Given the description of an element on the screen output the (x, y) to click on. 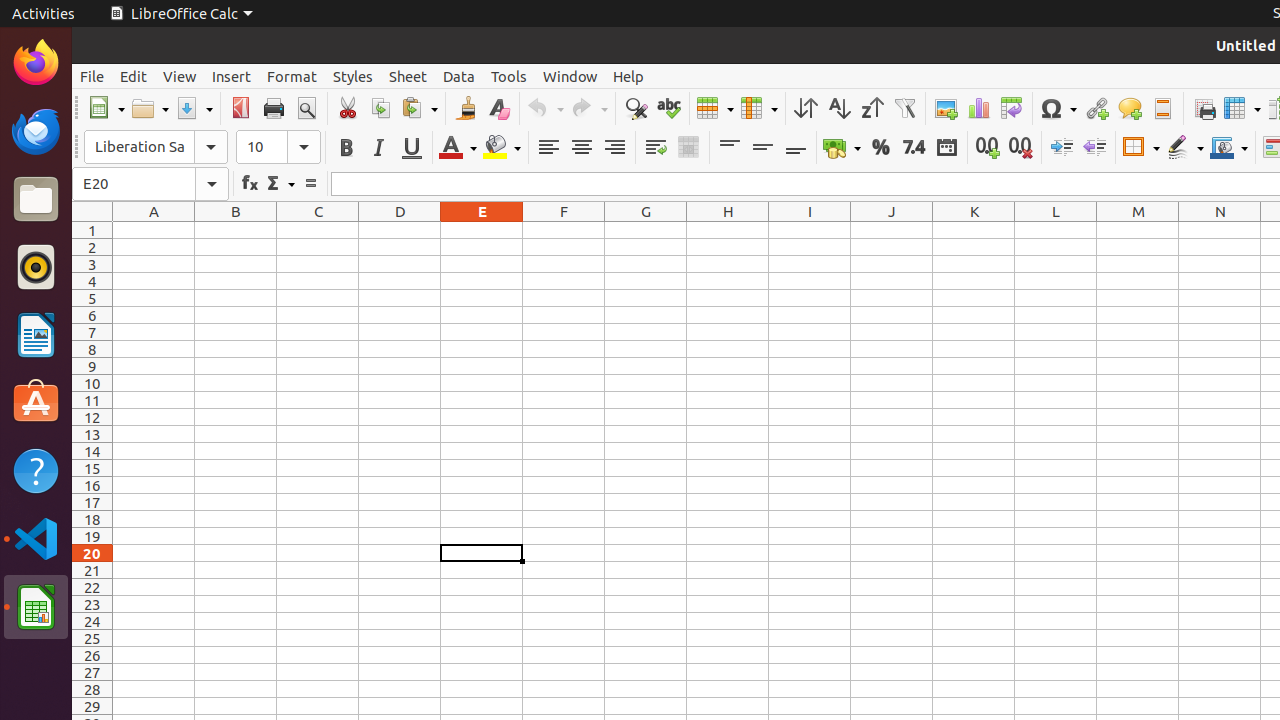
New Element type: push-button (106, 108)
Cut Element type: push-button (347, 108)
Comment Element type: push-button (1129, 108)
Sort Descending Element type: push-button (871, 108)
Spelling Element type: push-button (668, 108)
